Given the description of an element on the screen output the (x, y) to click on. 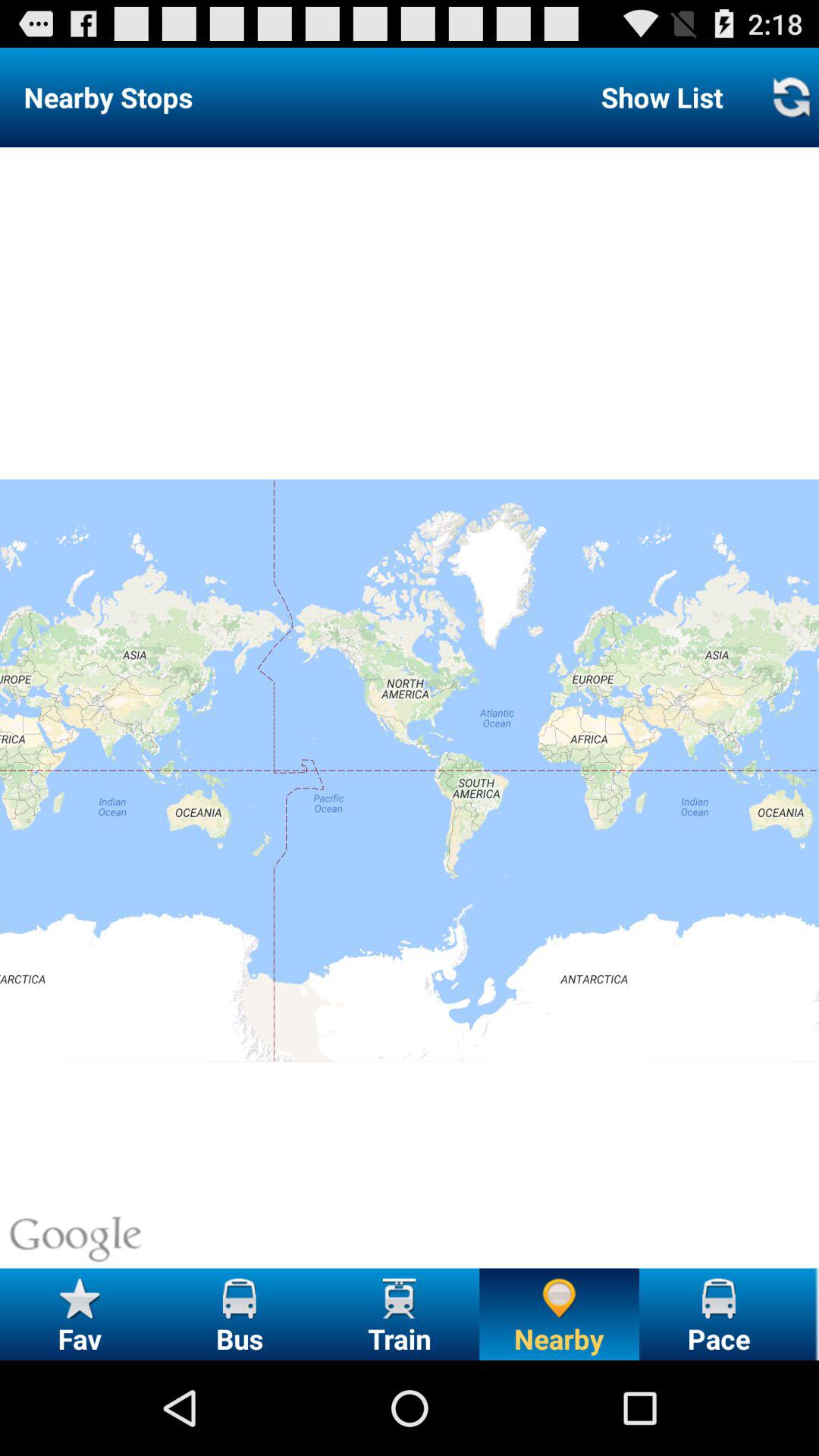
launch icon to the right of the nearby stops app (662, 97)
